Given the description of an element on the screen output the (x, y) to click on. 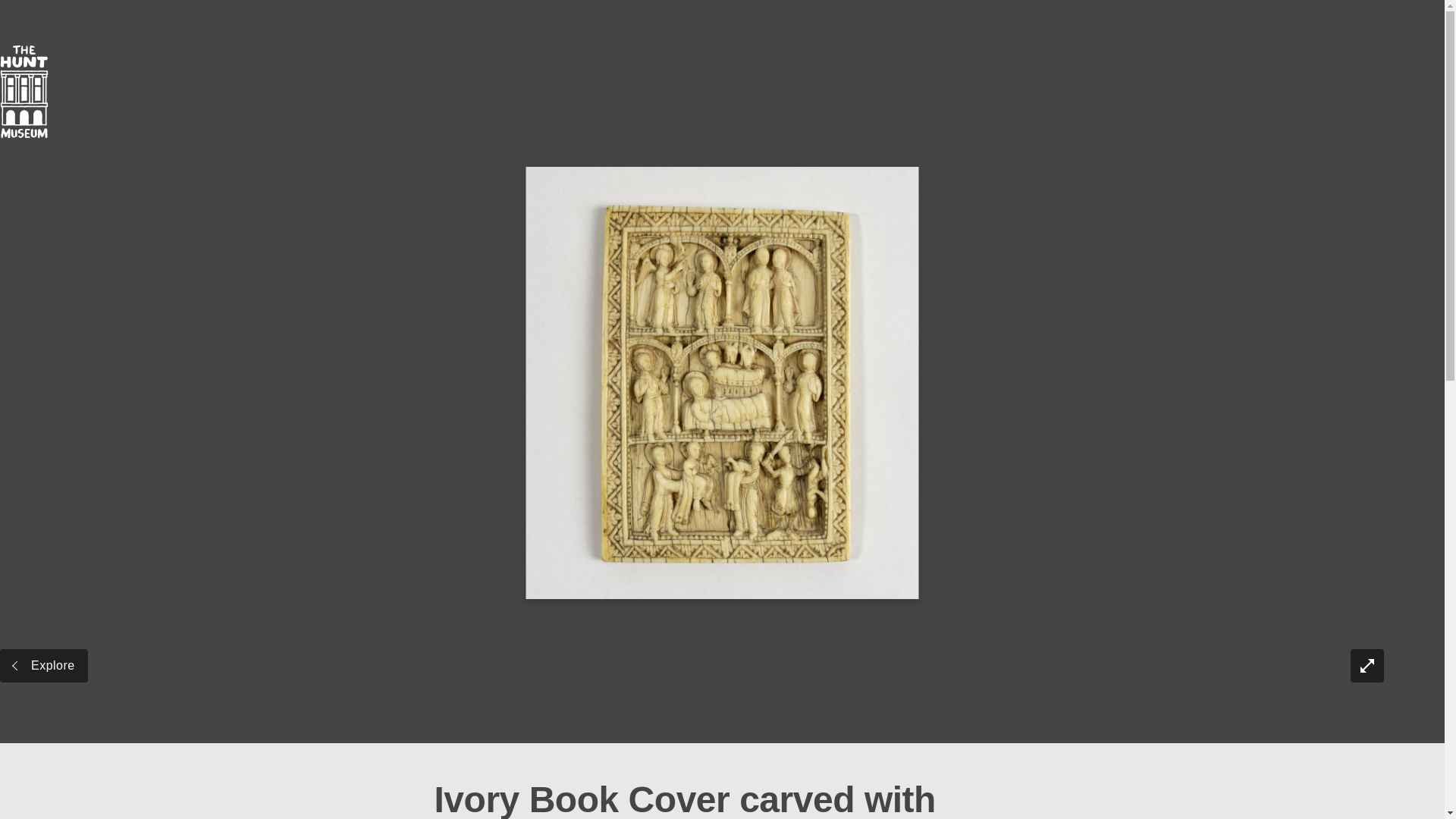
Explore (43, 665)
